Given the description of an element on the screen output the (x, y) to click on. 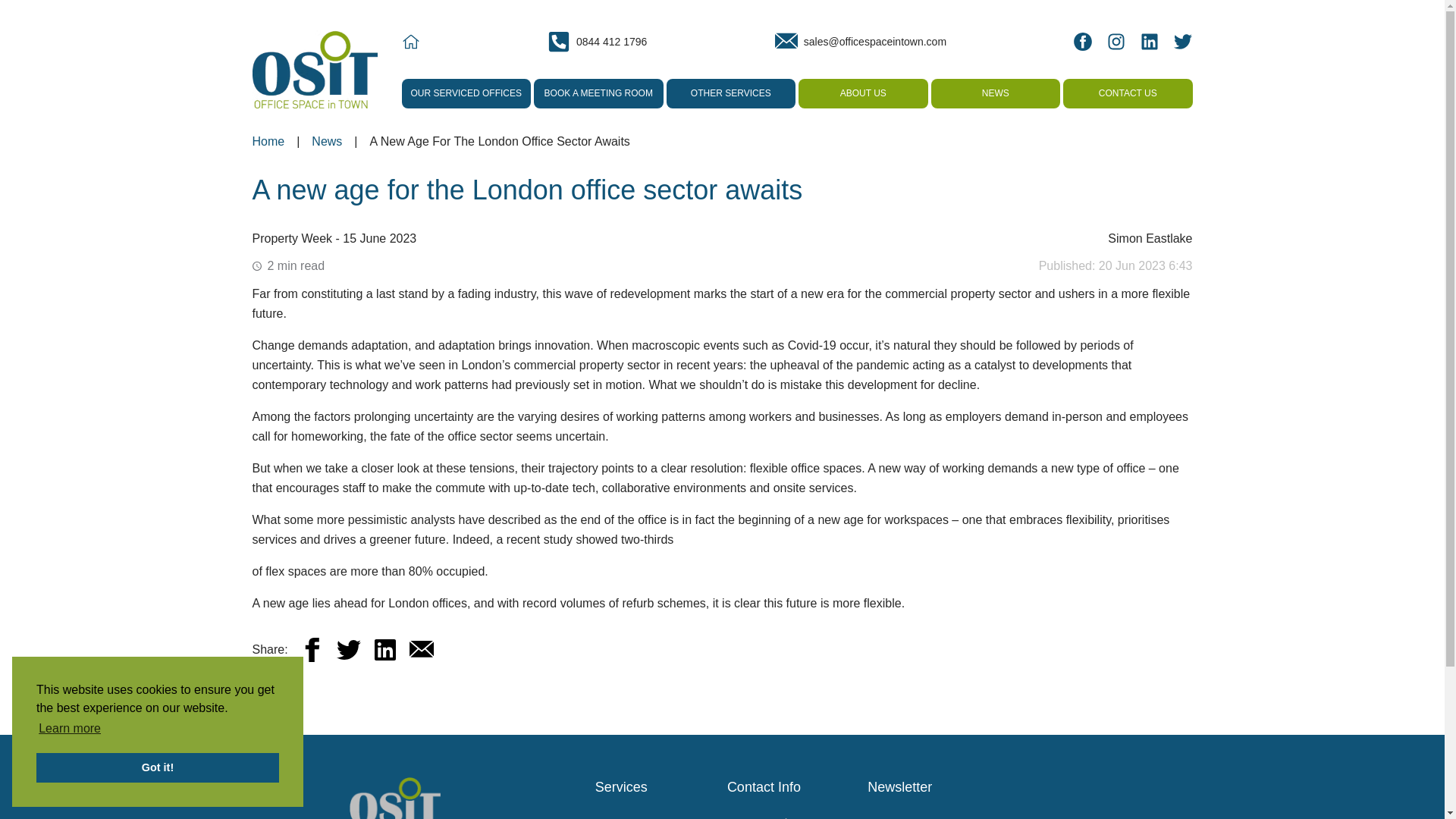
Learn more (69, 728)
ABOUT US (862, 93)
0844 412 1796 (596, 41)
OUR SERVICED OFFICES (466, 93)
OTHER SERVICES (729, 93)
Got it! (157, 767)
BOOK A MEETING ROOM (598, 93)
